Given the description of an element on the screen output the (x, y) to click on. 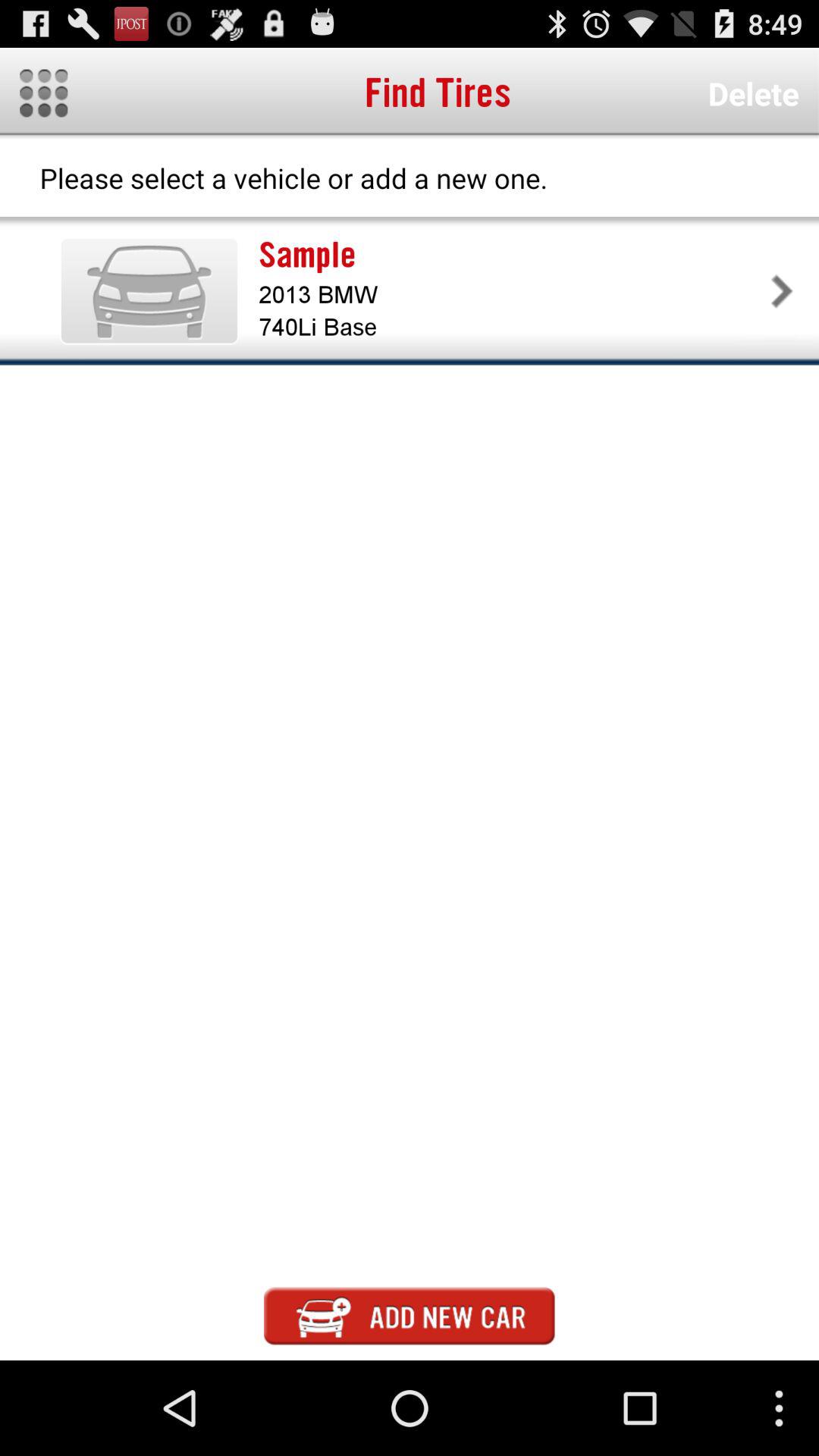
press the 2013 bmw (511, 294)
